Given the description of an element on the screen output the (x, y) to click on. 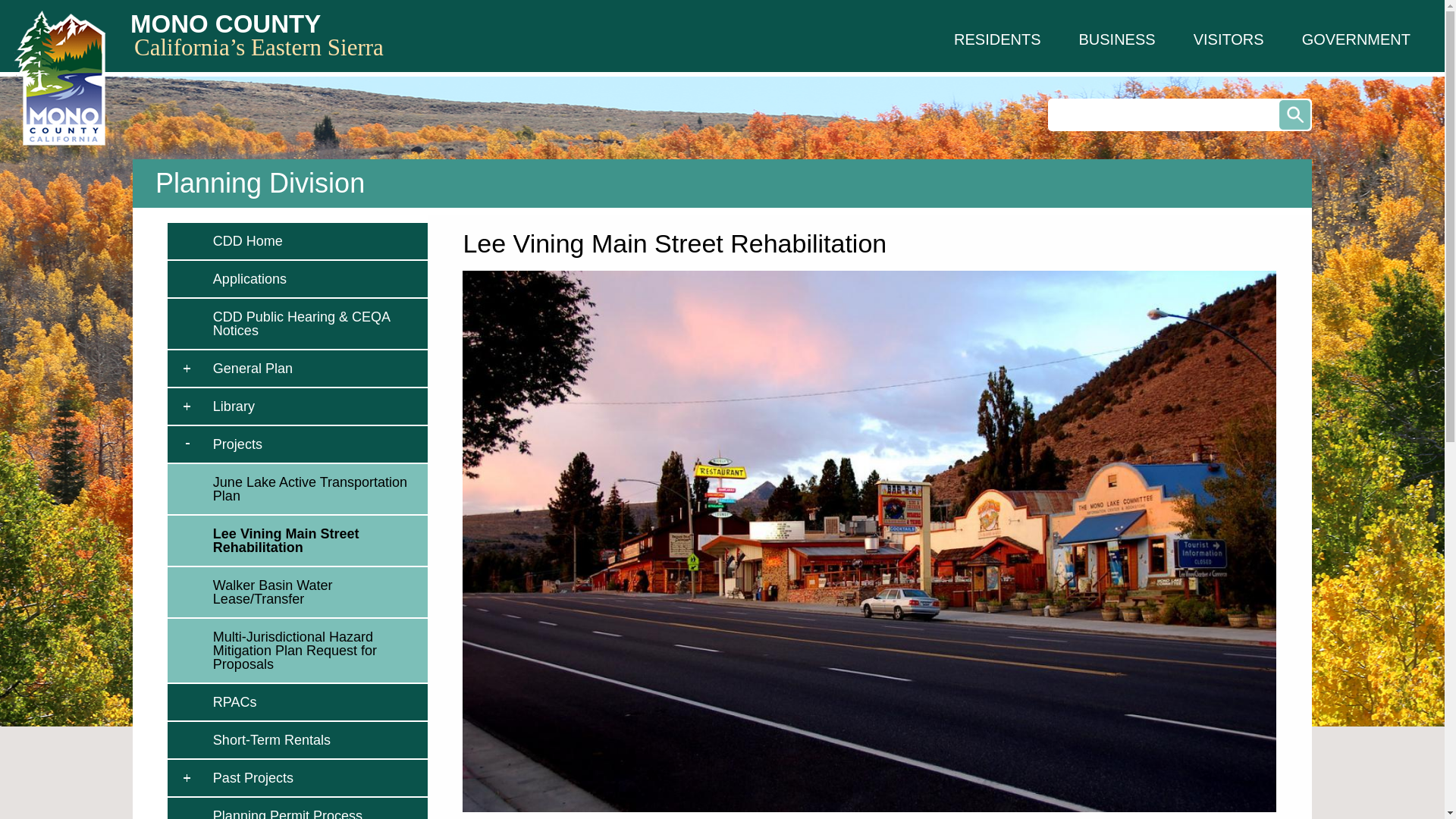
Forms and Applications (316, 279)
The General Plan (316, 368)
Enter the terms you wish to search for. (1179, 114)
RESIDENTS (997, 39)
Search (1294, 114)
